Given the description of an element on the screen output the (x, y) to click on. 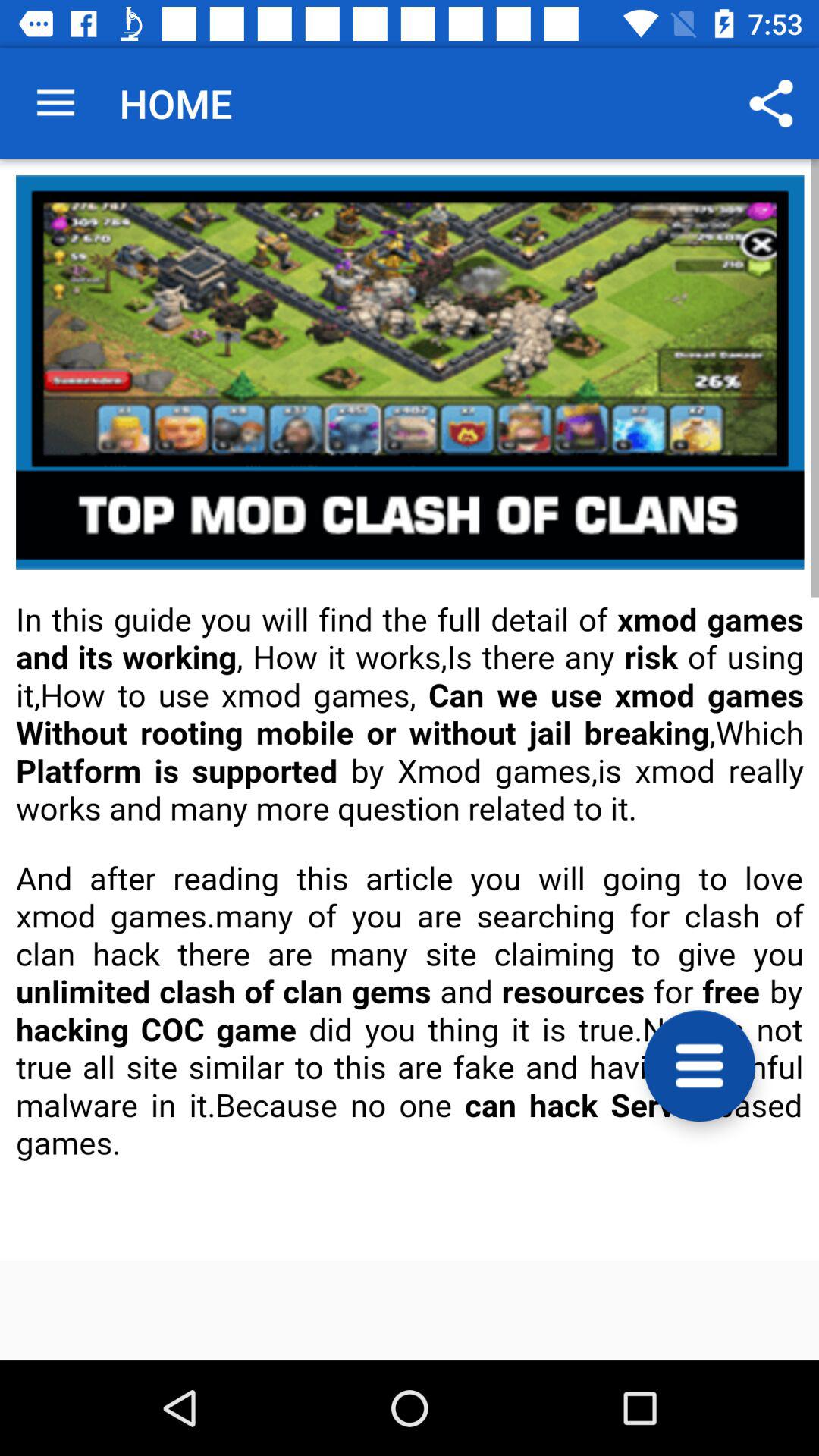
contact page (409, 709)
